Given the description of an element on the screen output the (x, y) to click on. 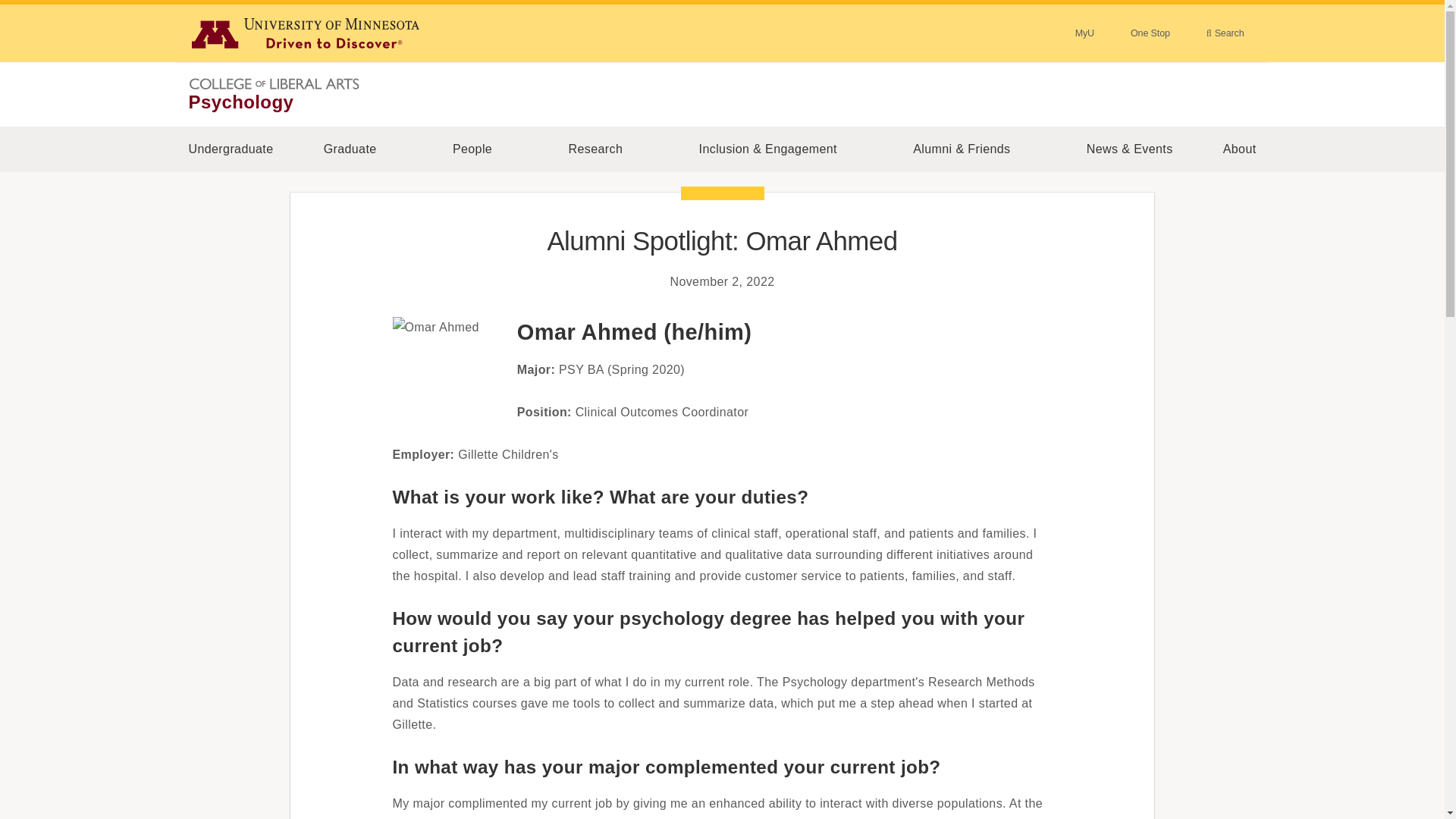
Graduate (349, 148)
Psychology (240, 101)
People (472, 148)
About (1239, 148)
One Stop (1150, 32)
Undergraduate (230, 148)
Skip to main content (8, 9)
Toggle Search Region Visisbility (1224, 32)
Search (1224, 32)
MyU (1084, 32)
Research (595, 148)
